Given the description of an element on the screen output the (x, y) to click on. 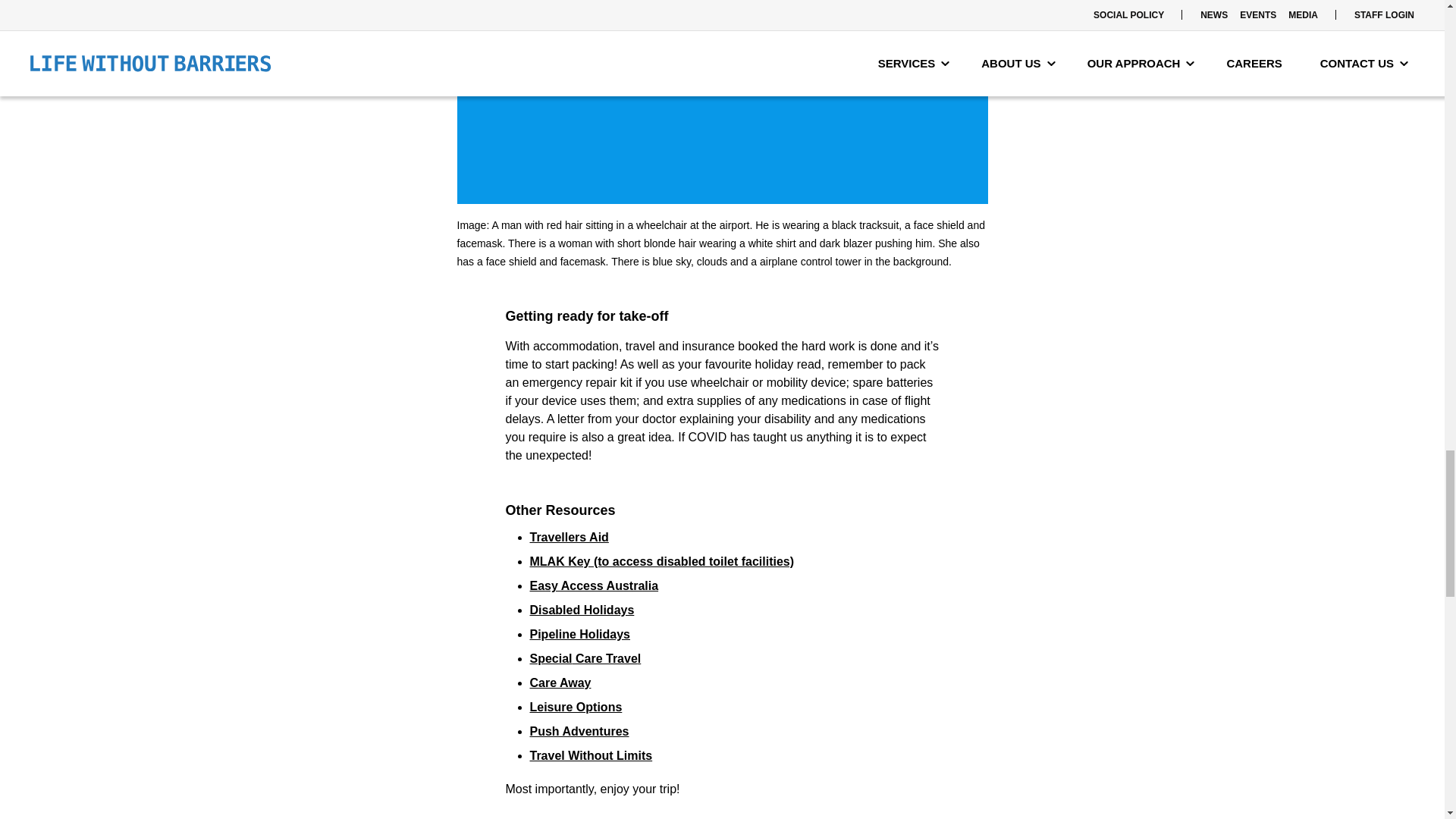
Special (550, 658)
Pipeline Holidays (578, 634)
Easy Access Australia (593, 585)
Travellers Aid (568, 536)
Care Trave (604, 658)
Disabled Holidays (581, 609)
